Given the description of an element on the screen output the (x, y) to click on. 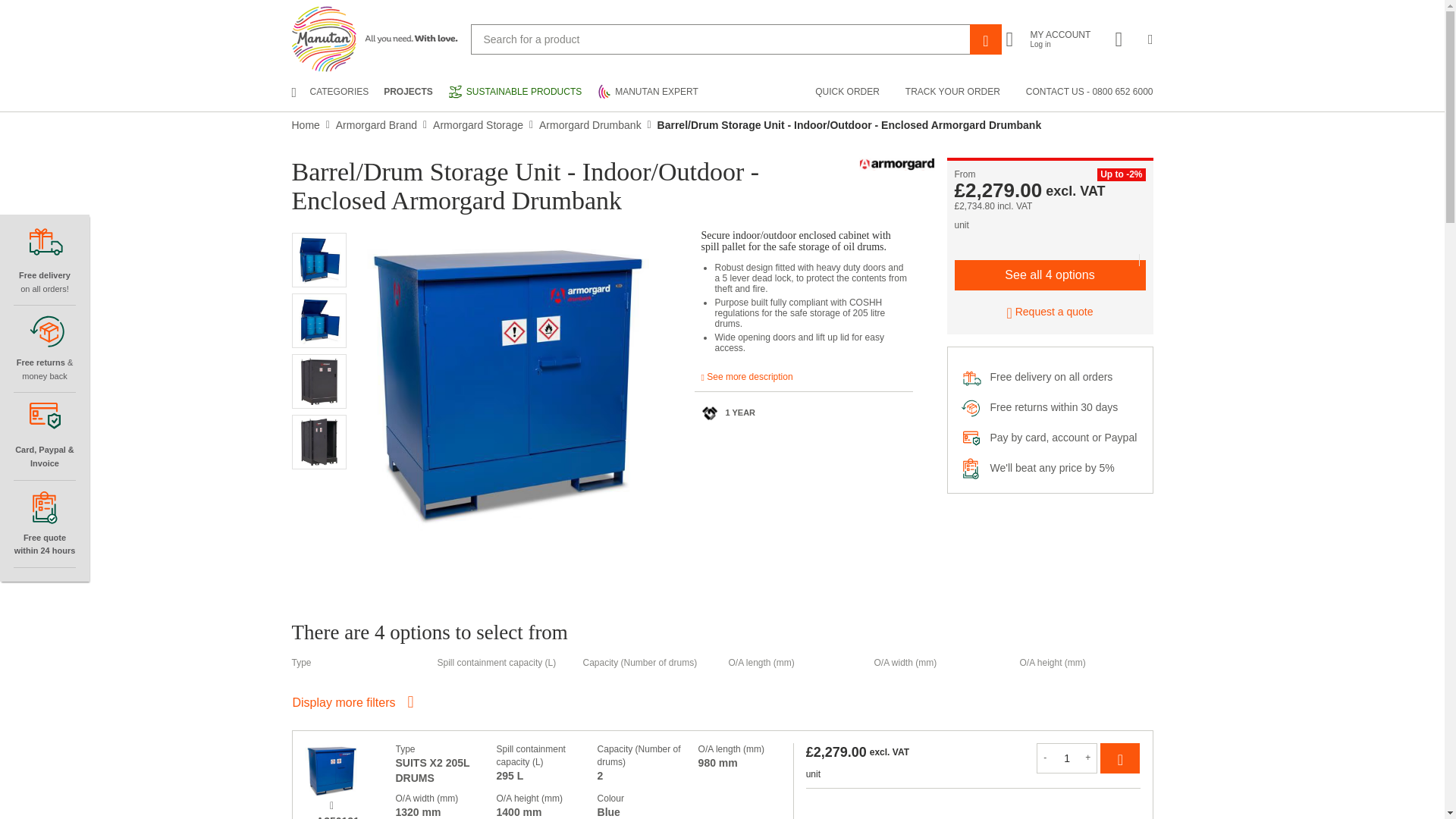
1 (1066, 757)
CATEGORIES (329, 91)
Customer warranty (709, 413)
Search (985, 39)
MANUTAN EXPERT (1051, 39)
PROJECTS (647, 91)
Drumbank with doors open and 2 drums inside. (408, 91)
SUSTAINABLE PRODUCTS (318, 259)
Drumbank with doors open and 4 drums inside. (514, 91)
TRACK YOUR ORDER (318, 320)
QUICK ORDER (952, 91)
CONTACT US - 0800 652 6000 (847, 91)
Add to Basket (1089, 91)
